Given the description of an element on the screen output the (x, y) to click on. 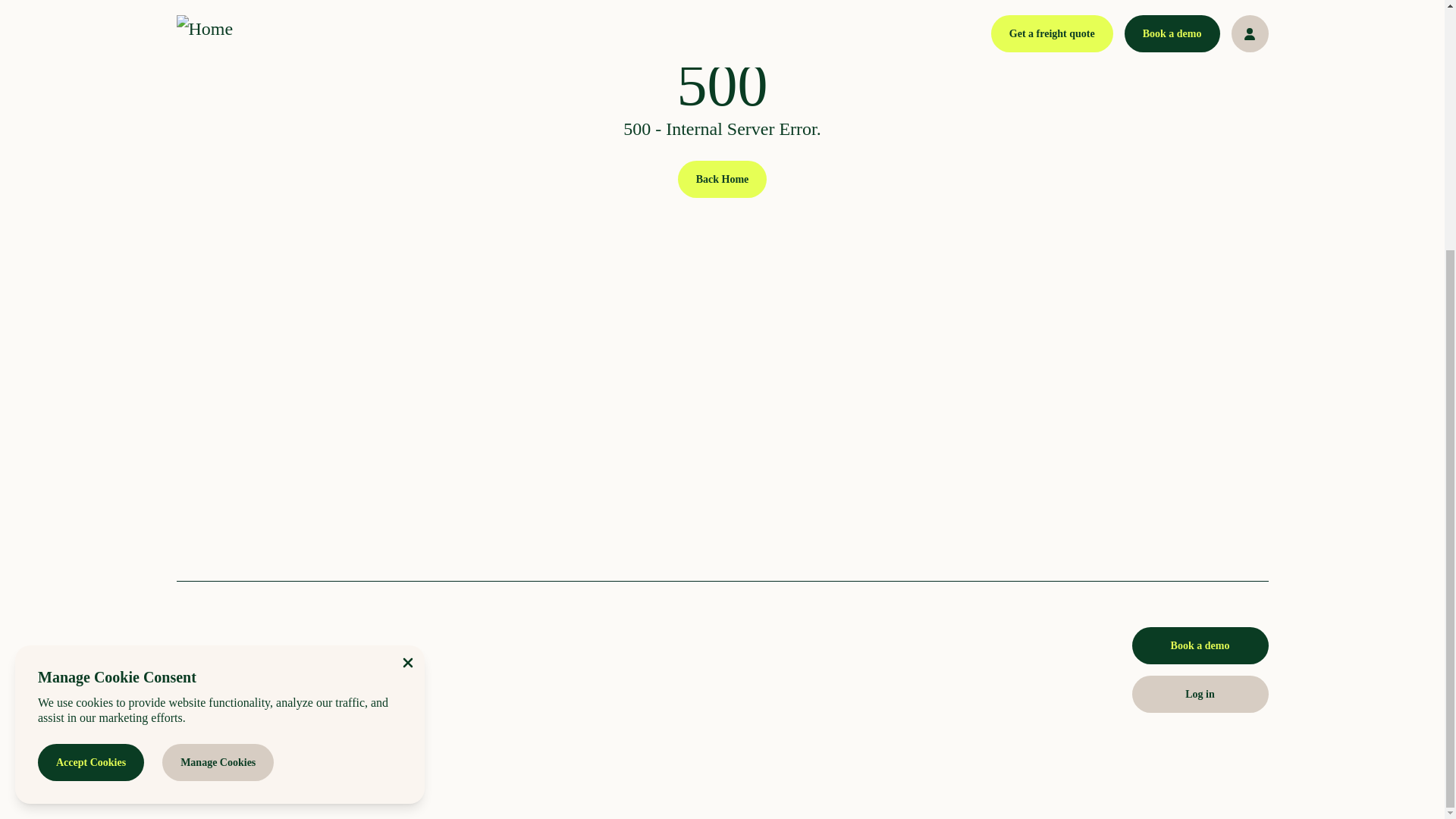
Back Home (722, 178)
Book a demo (1199, 645)
Manage Cookies (217, 411)
Terms of Use (363, 765)
Accept Cookies (90, 411)
Log in (1199, 693)
Privacy Policy (282, 765)
